Given the description of an element on the screen output the (x, y) to click on. 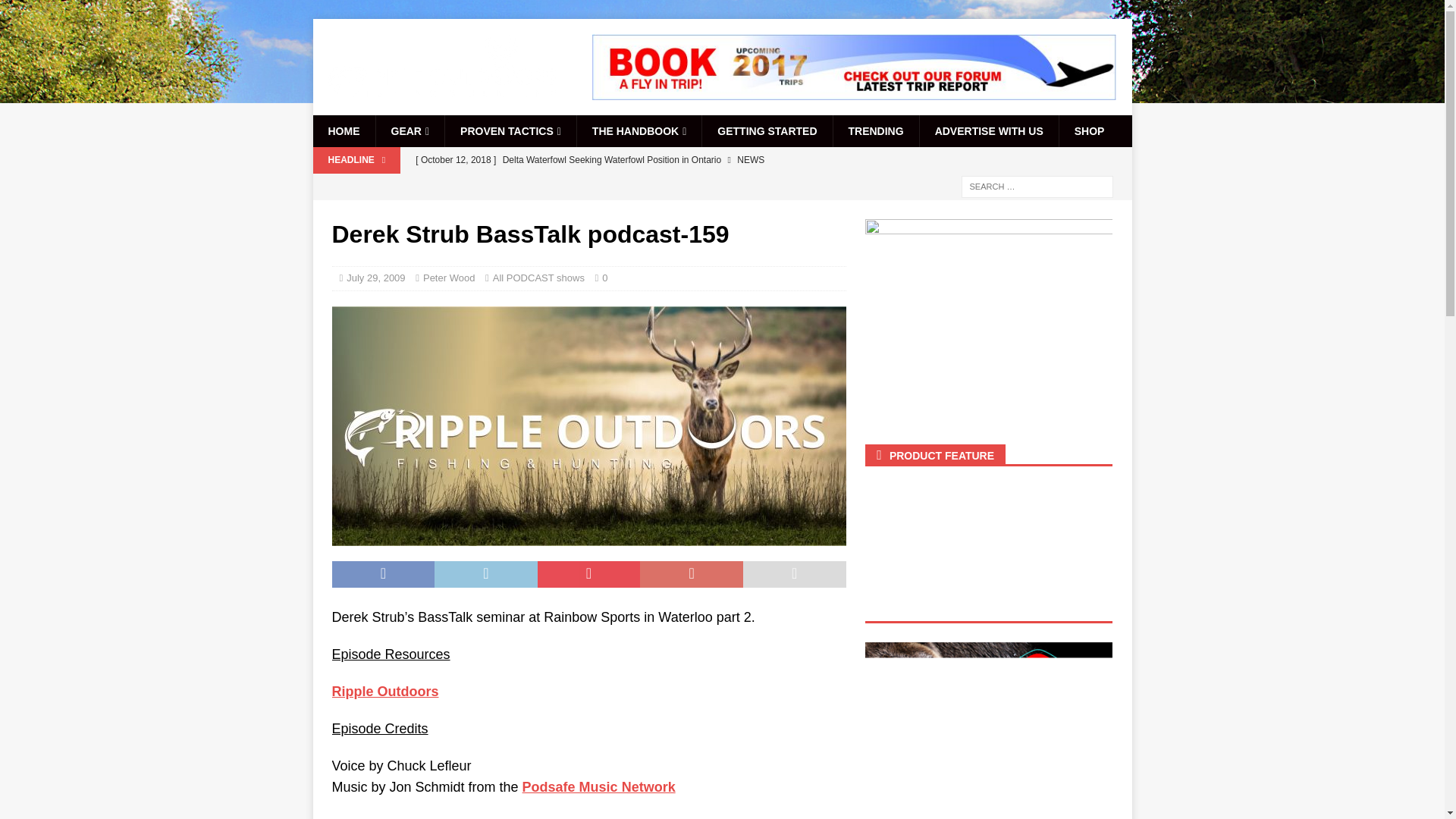
TRENDING (875, 131)
July 29, 2009 (375, 277)
Ripple Outdoors (385, 691)
All PODCAST shows (539, 277)
PROVEN TACTICS (510, 131)
HOME (343, 131)
GEAR (409, 131)
SHOP (1088, 131)
Delta Waterfowl Seeking Waterfowl Position in Ontario (624, 159)
GETTING STARTED (766, 131)
ripple outdoors (588, 426)
ADVERTISE WITH US (988, 131)
Search (56, 11)
Podsafe Music Network (598, 786)
